Given the description of an element on the screen output the (x, y) to click on. 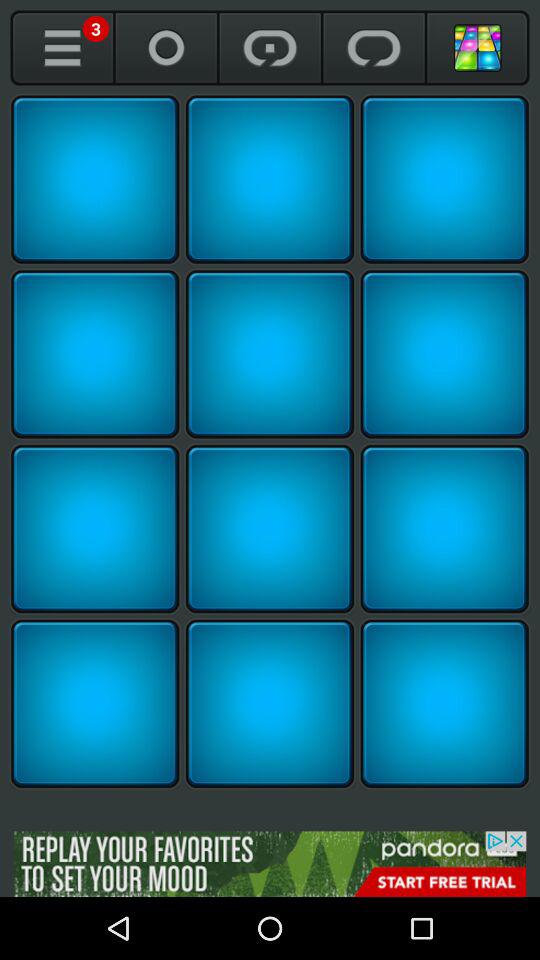
row 4 left loop (95, 703)
